Given the description of an element on the screen output the (x, y) to click on. 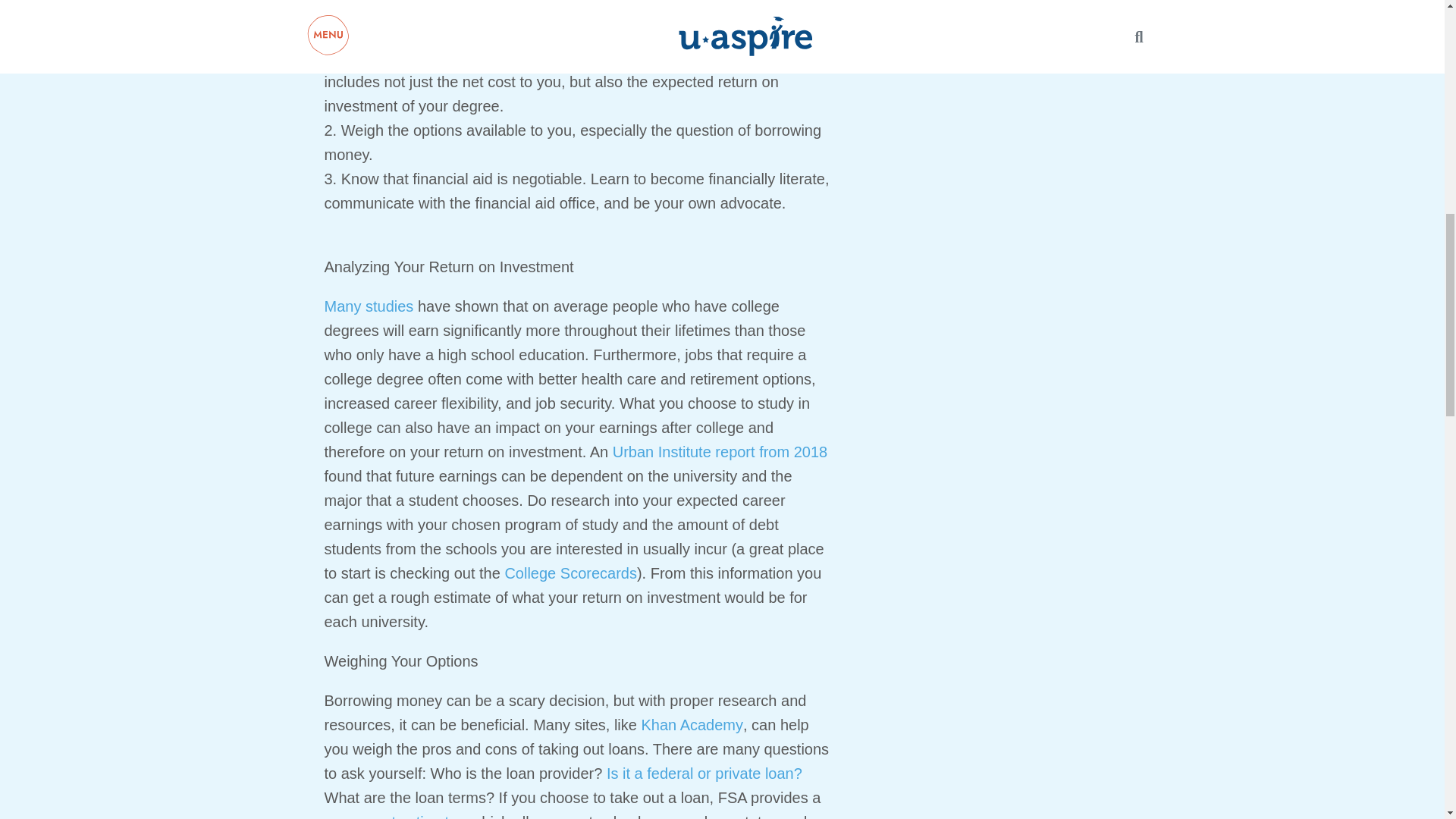
repayment estimator (393, 816)
Many studies (368, 306)
College Scorecards (570, 573)
Urban Institute report from 2018 (719, 451)
Khan Academy (691, 724)
Is it a federal or private loan? (704, 773)
